Given the description of an element on the screen output the (x, y) to click on. 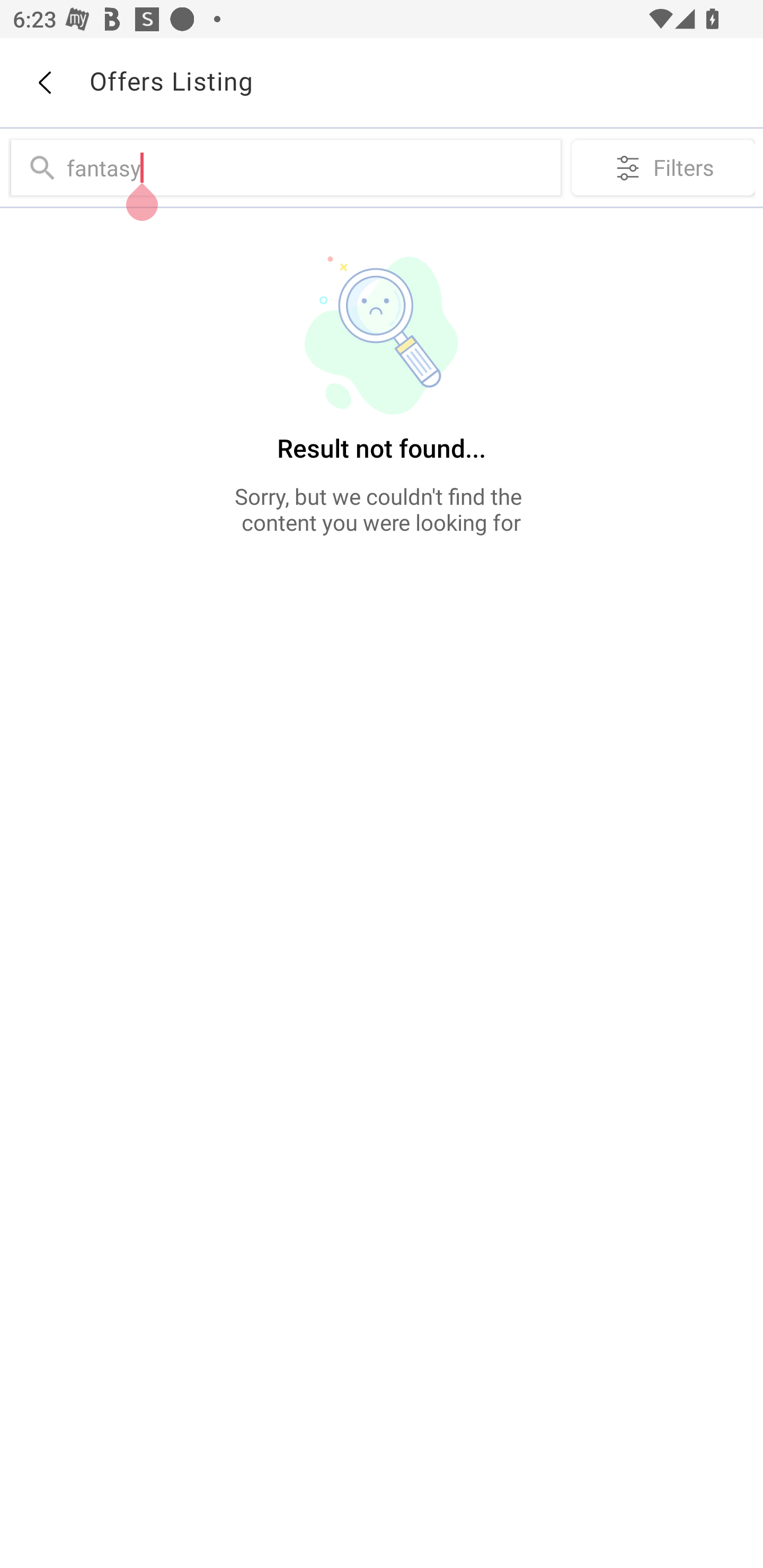
Back (44, 82)
Filter Filters (663, 167)
fantasy (309, 167)
